Given the description of an element on the screen output the (x, y) to click on. 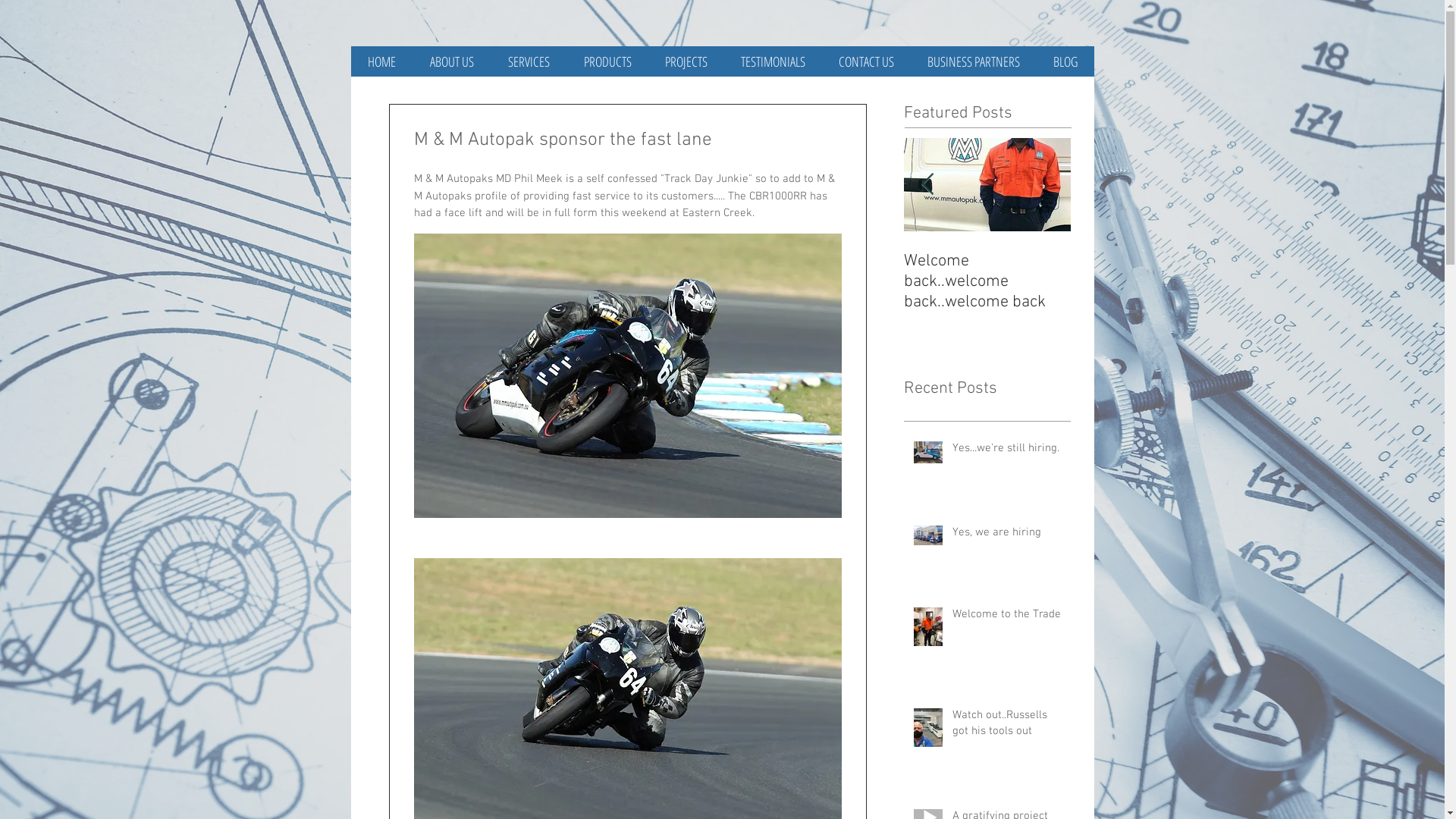
Same great service...just an upgraded new look Element type: text (653, 281)
BUSINESS PARTNERS Element type: text (972, 61)
Welcome to the Trade Element type: text (1006, 617)
Clean as a baby's......bottom? Element type: text (319, 271)
Stainless are us Element type: text (486, 261)
Yes...we're still hiring. Element type: text (1006, 451)
Welcome back..welcome back..welcome back Element type: text (986, 281)
PROJECTS Element type: text (685, 61)
Watch those ankles Element type: text (820, 261)
HOME Element type: text (381, 61)
CONTACT US Element type: text (866, 61)
SERVICES Element type: text (529, 61)
TESTIMONIALS Element type: text (772, 61)
Yes, we are hiring Element type: text (1006, 535)
PRODUCTS Element type: text (607, 61)
ABOUT US Element type: text (451, 61)
A gratifying project Element type: text (152, 261)
BLOG Element type: text (1064, 61)
Watch out..Russells got his tools out Element type: text (1006, 726)
